Given the description of an element on the screen output the (x, y) to click on. 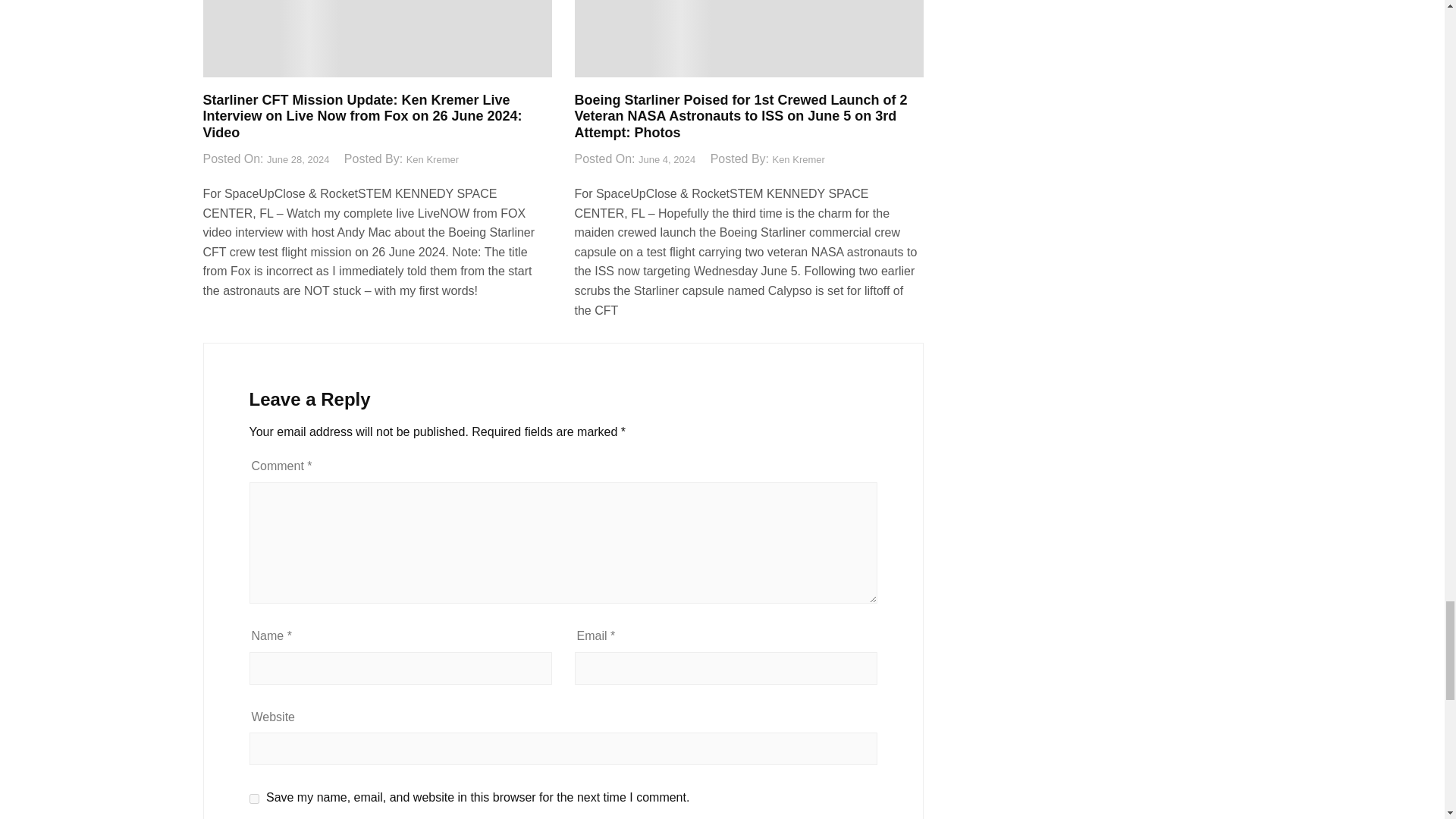
yes (253, 798)
